Given the description of an element on the screen output the (x, y) to click on. 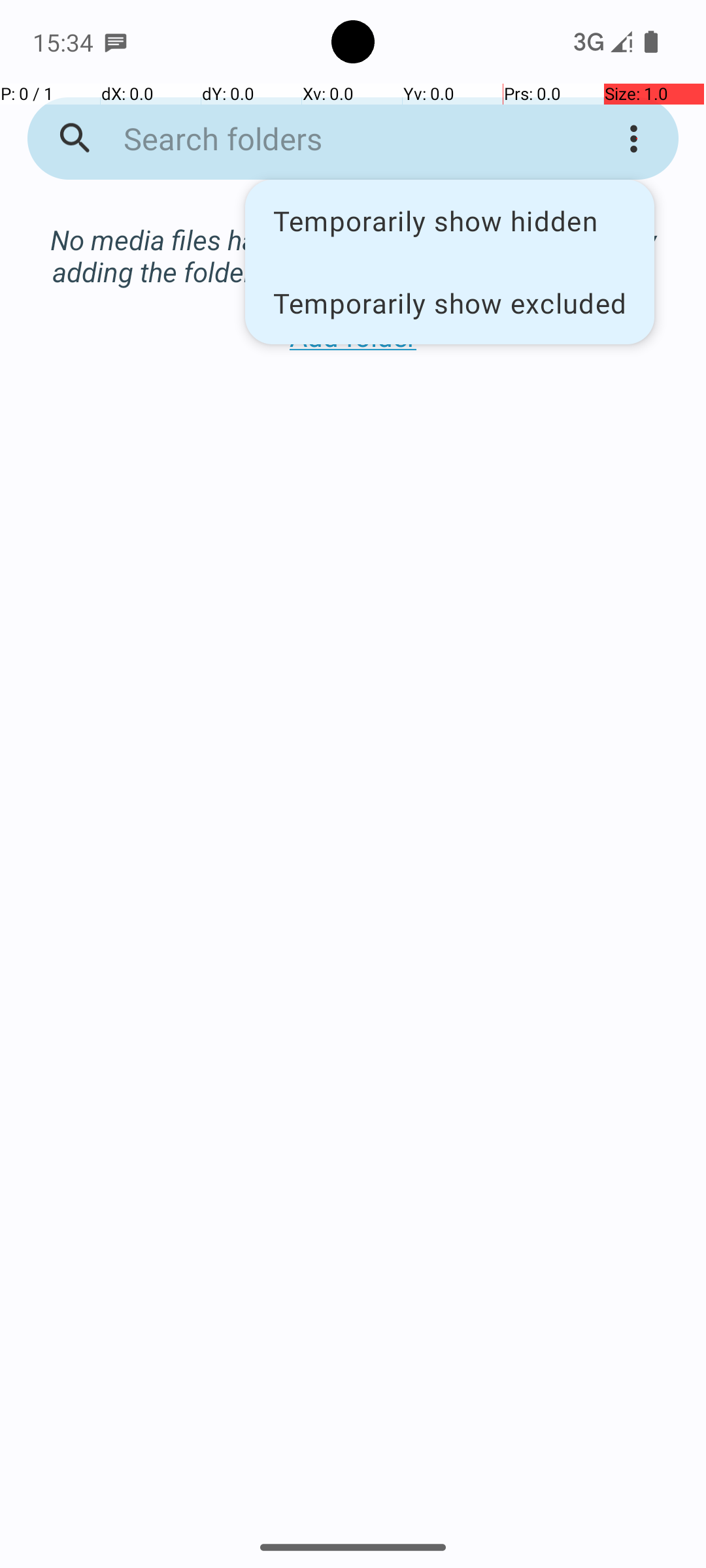
Temporarily show hidden Element type: android.widget.TextView (449, 220)
Temporarily show excluded Element type: android.widget.TextView (449, 302)
